Given the description of an element on the screen output the (x, y) to click on. 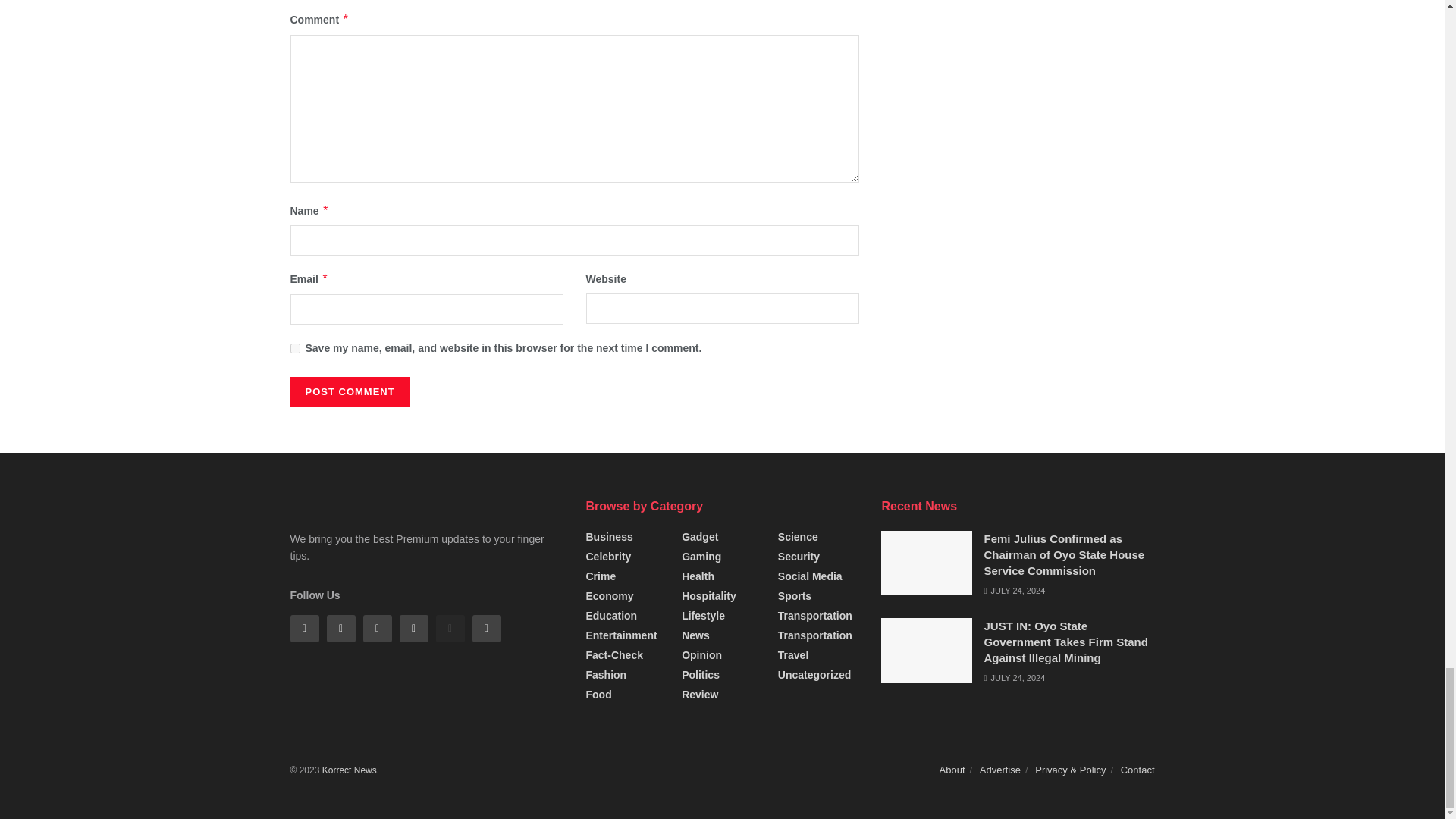
yes (294, 347)
Post Comment (349, 391)
